Given the description of an element on the screen output the (x, y) to click on. 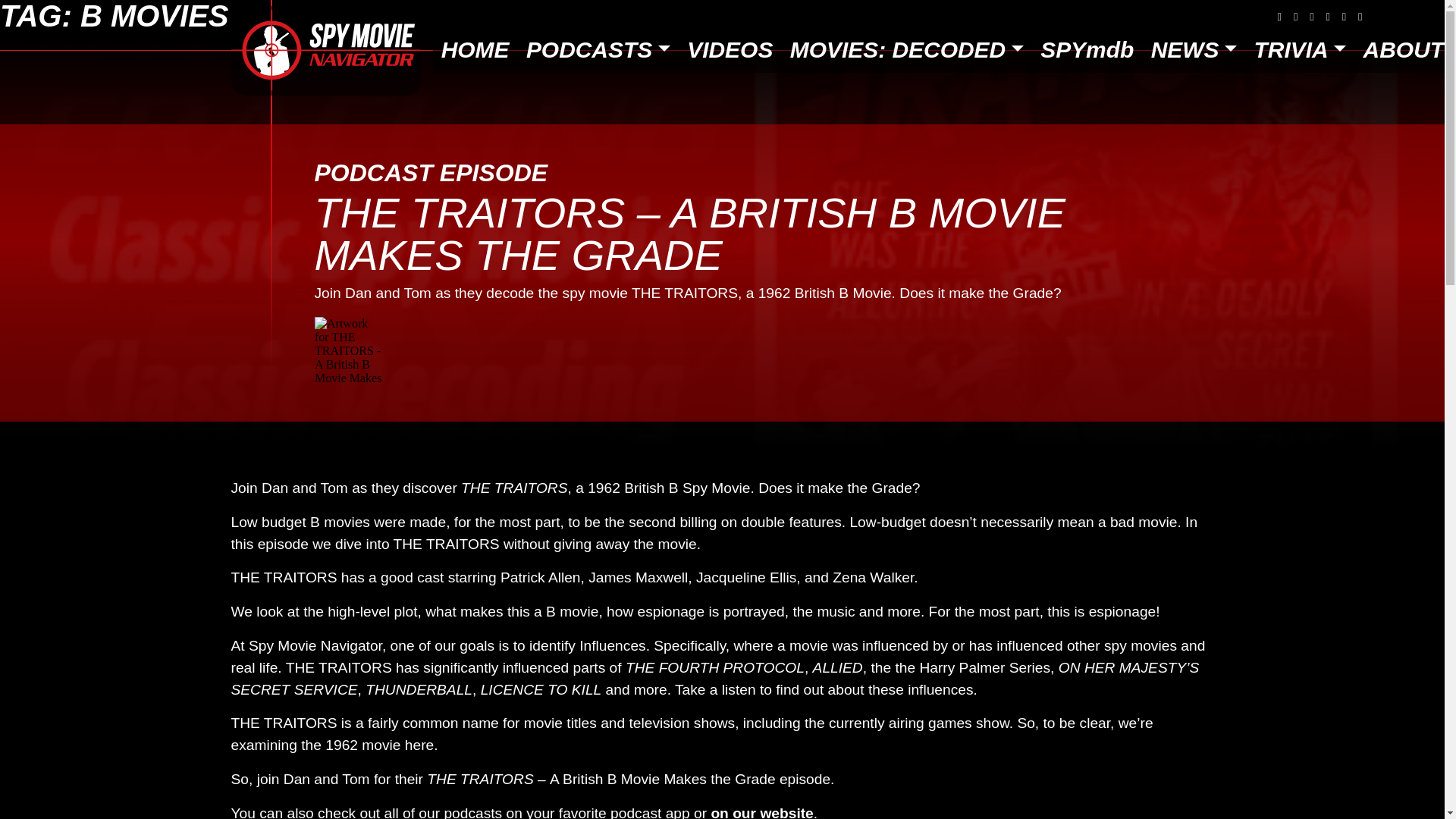
MOVIES: DECODED (906, 50)
VIDEOS (729, 50)
HOME (474, 50)
NEWS (1192, 50)
TRIVIA (1299, 50)
PODCASTS (598, 50)
 on our website (759, 812)
SPYmdb (1086, 50)
